Given the description of an element on the screen output the (x, y) to click on. 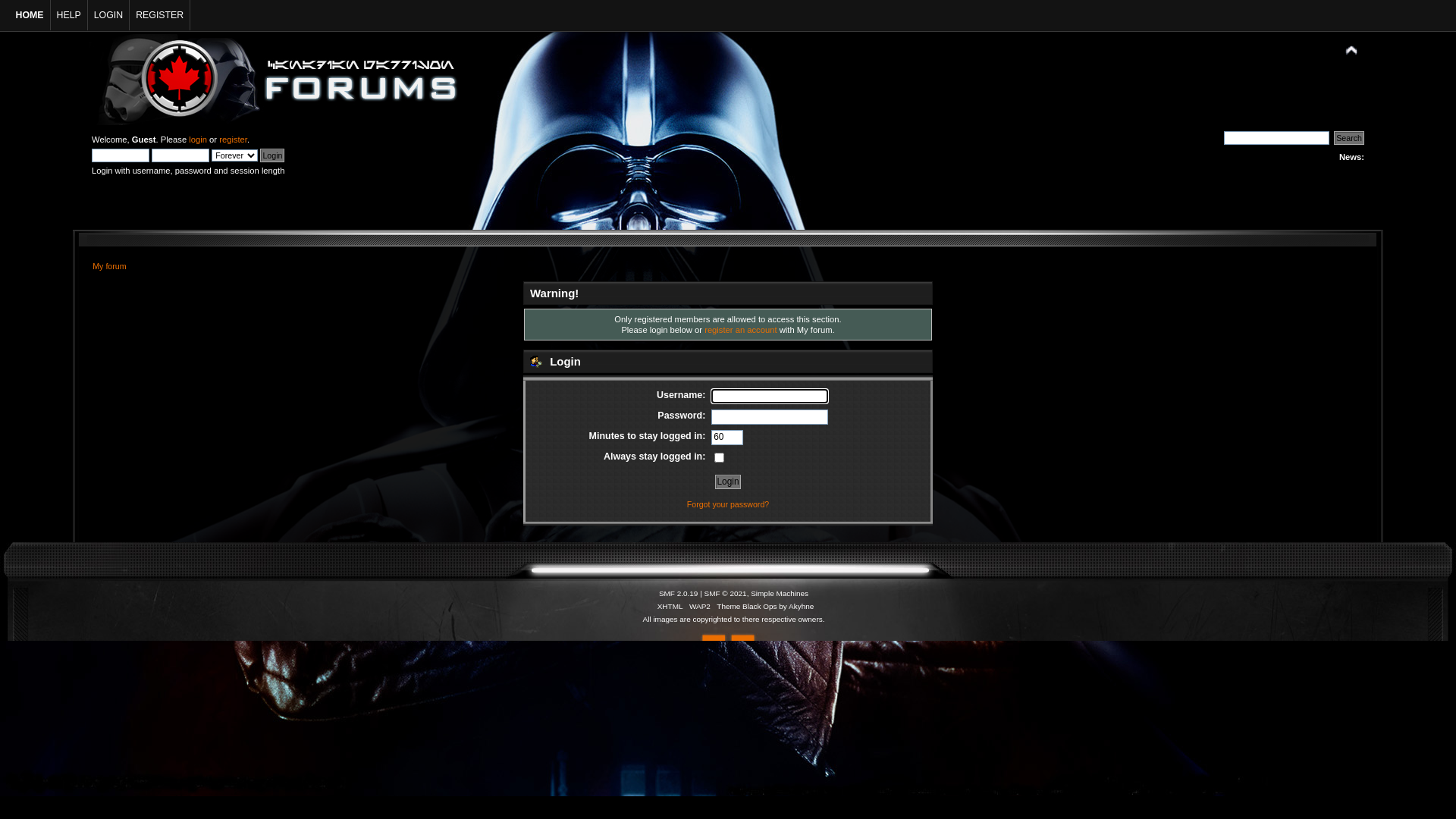
HOME Element type: text (29, 15)
Login Element type: text (727, 481)
login Element type: text (197, 139)
Forgot your password? Element type: text (727, 503)
register Element type: text (233, 139)
Simple Machines Forum Element type: hover (1236, 46)
WAP2 Element type: text (699, 606)
Shrink or expand the header. Element type: hover (1350, 50)
My forum Element type: text (108, 265)
Search Element type: text (1348, 137)
register an account Element type: text (740, 329)
Simple Machines Element type: text (779, 593)
XHTML Element type: text (670, 606)
LOGIN Element type: text (108, 15)
HELP Element type: text (68, 15)
on Element type: text (719, 457)
REGISTER Element type: text (159, 15)
SMF 2.0.19 Element type: text (678, 593)
Login Element type: text (272, 155)
